Given the description of an element on the screen output the (x, y) to click on. 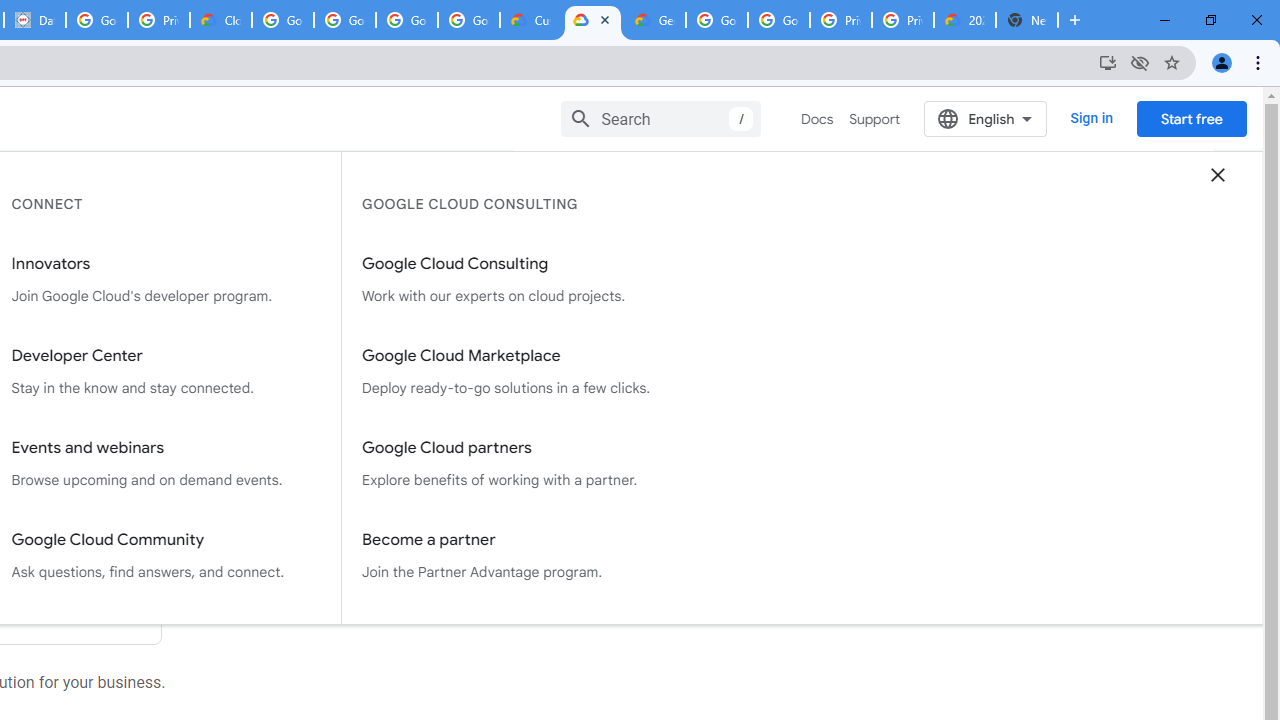
Bookmark this tab (1171, 62)
Support (874, 119)
Docs (817, 119)
Install Google Cloud (1107, 62)
English (985, 118)
Google Cloud Platform (778, 20)
Events and webinars Browse upcoming and on demand events. (166, 463)
Search (660, 118)
New Tab (1026, 20)
New Tab (1075, 20)
